Given the description of an element on the screen output the (x, y) to click on. 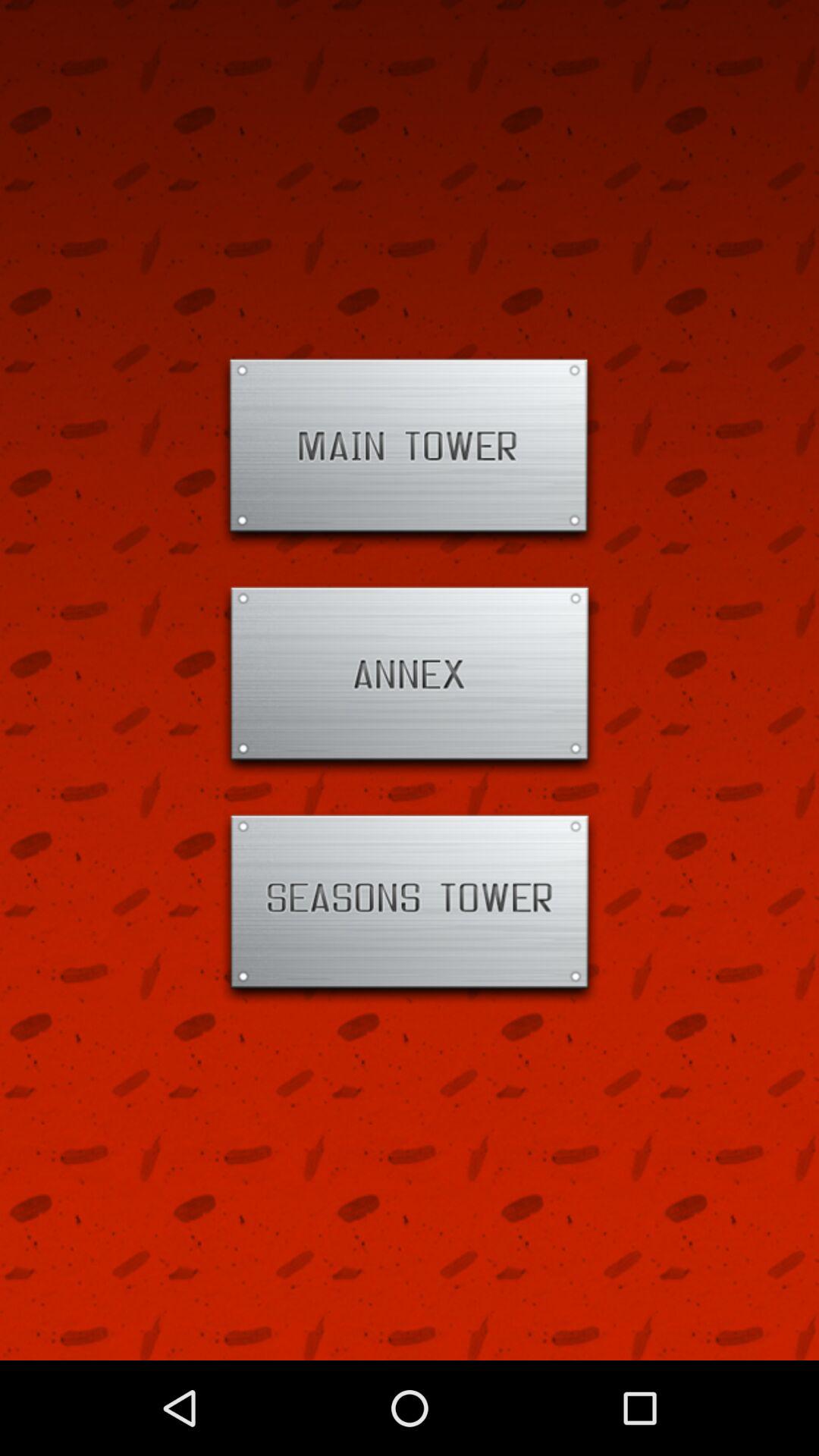
open selected item (409, 908)
